Given the description of an element on the screen output the (x, y) to click on. 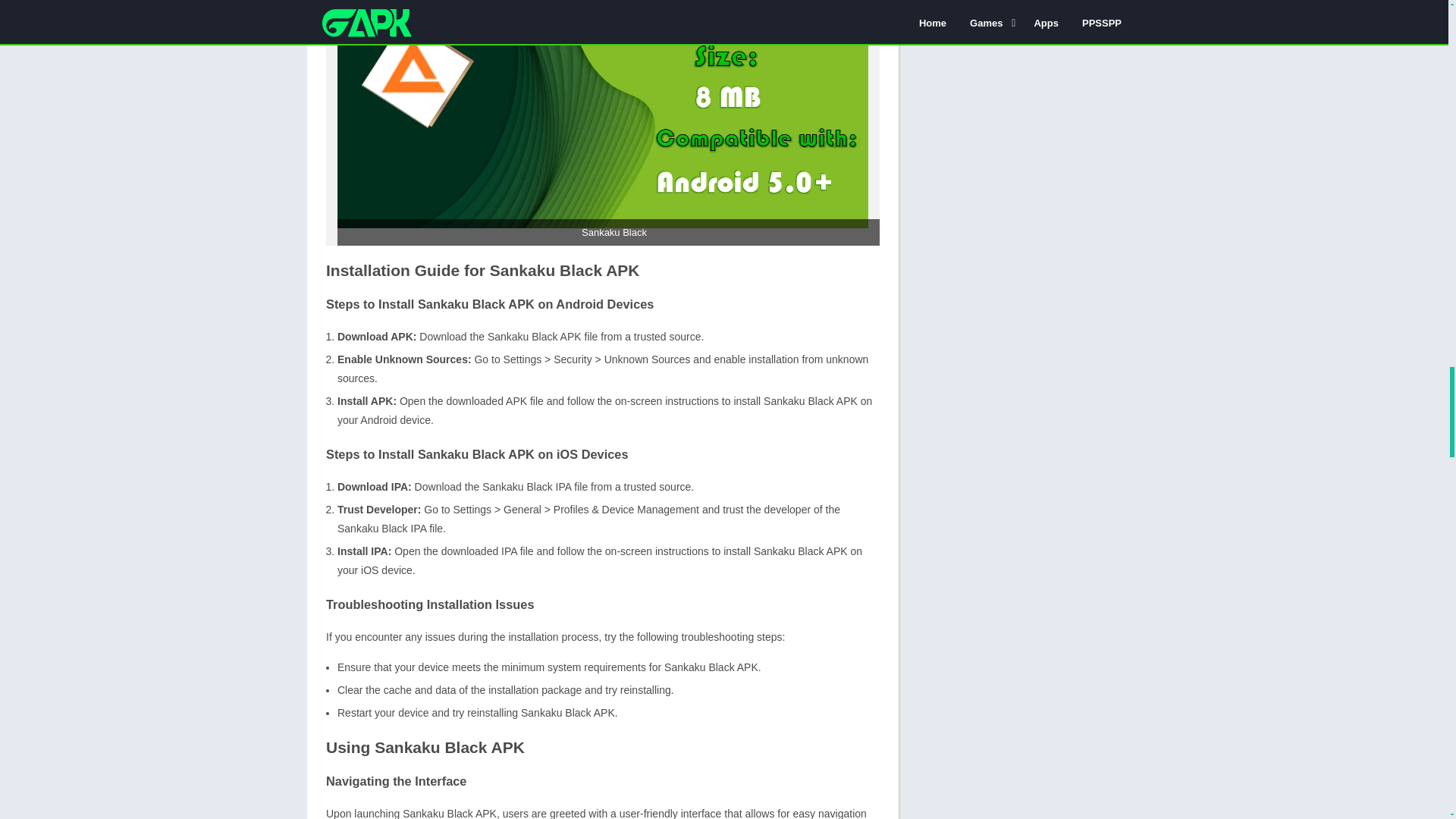
Sankaku Black apk android free.com1 (602, 114)
